Given the description of an element on the screen output the (x, y) to click on. 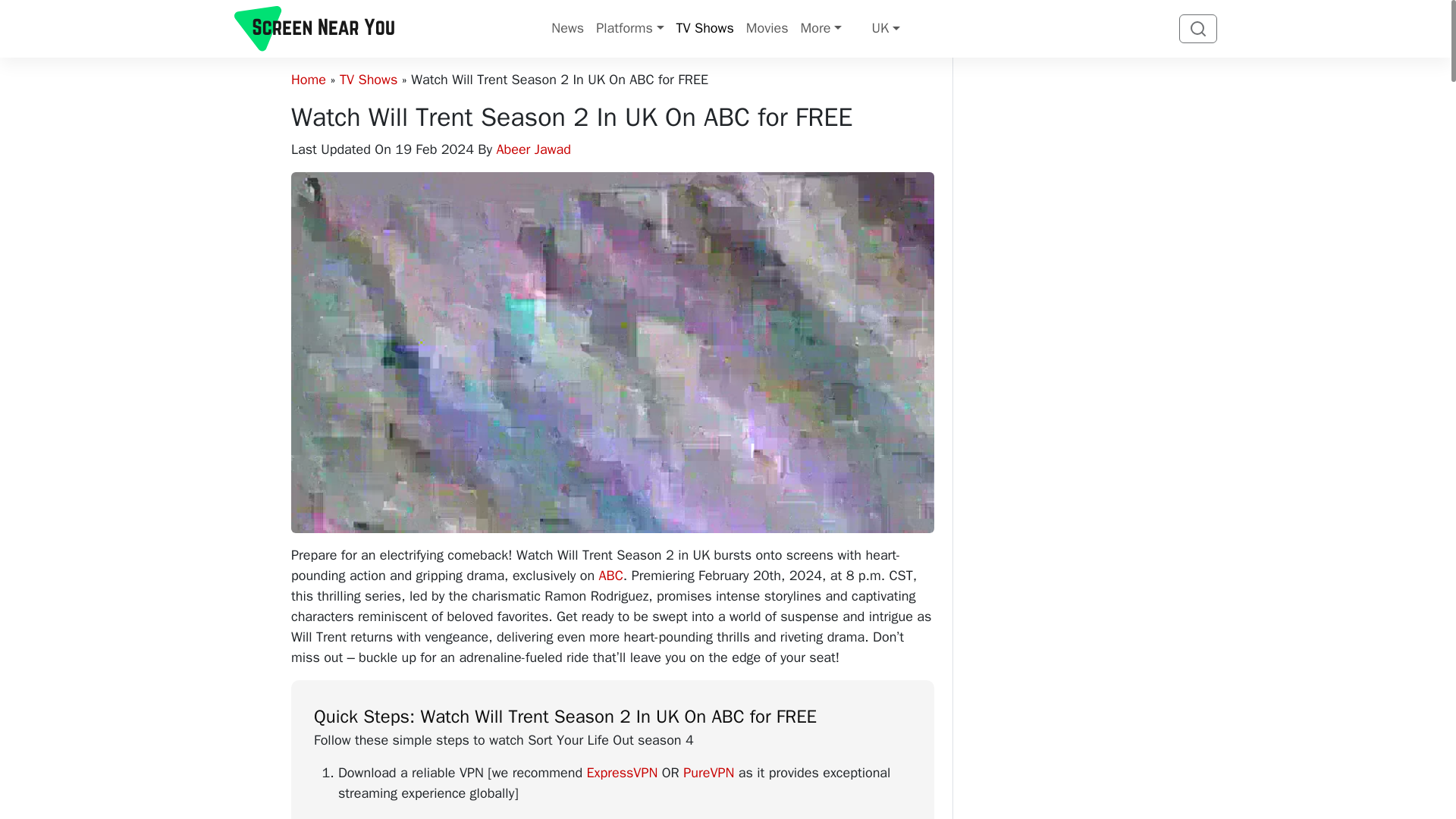
More (820, 28)
TV Shows (704, 28)
Movies (766, 28)
UK (876, 28)
Platforms (629, 28)
UK (876, 28)
News (566, 28)
